Given the description of an element on the screen output the (x, y) to click on. 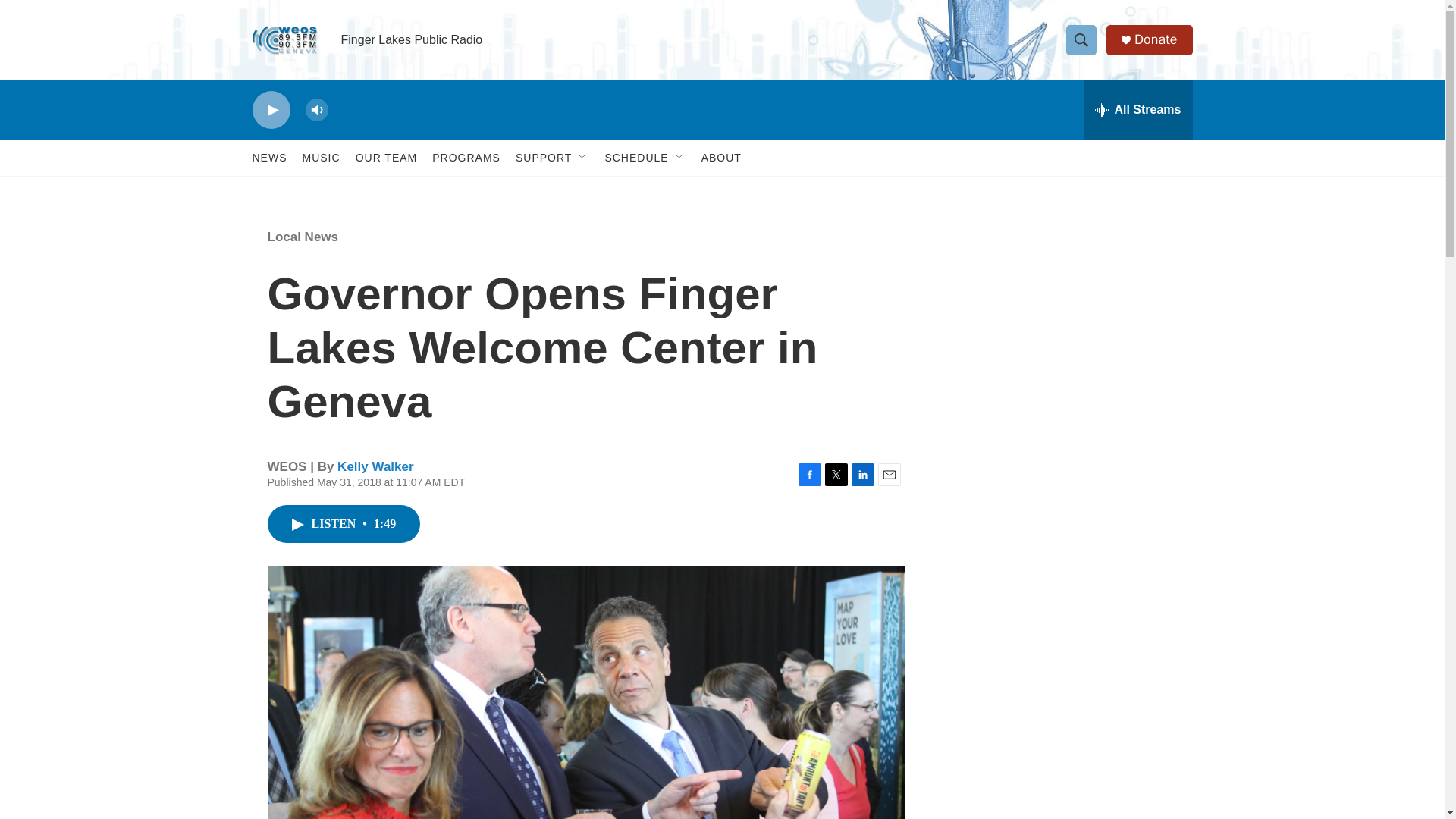
Show Search (1080, 39)
SUPPORT (543, 158)
NEWS (268, 158)
All Streams (1137, 109)
Donate (1155, 39)
MUSIC (320, 158)
PROGRAMS (466, 158)
3rd party ad content (1062, 335)
OUR TEAM (386, 158)
